Given the description of an element on the screen output the (x, y) to click on. 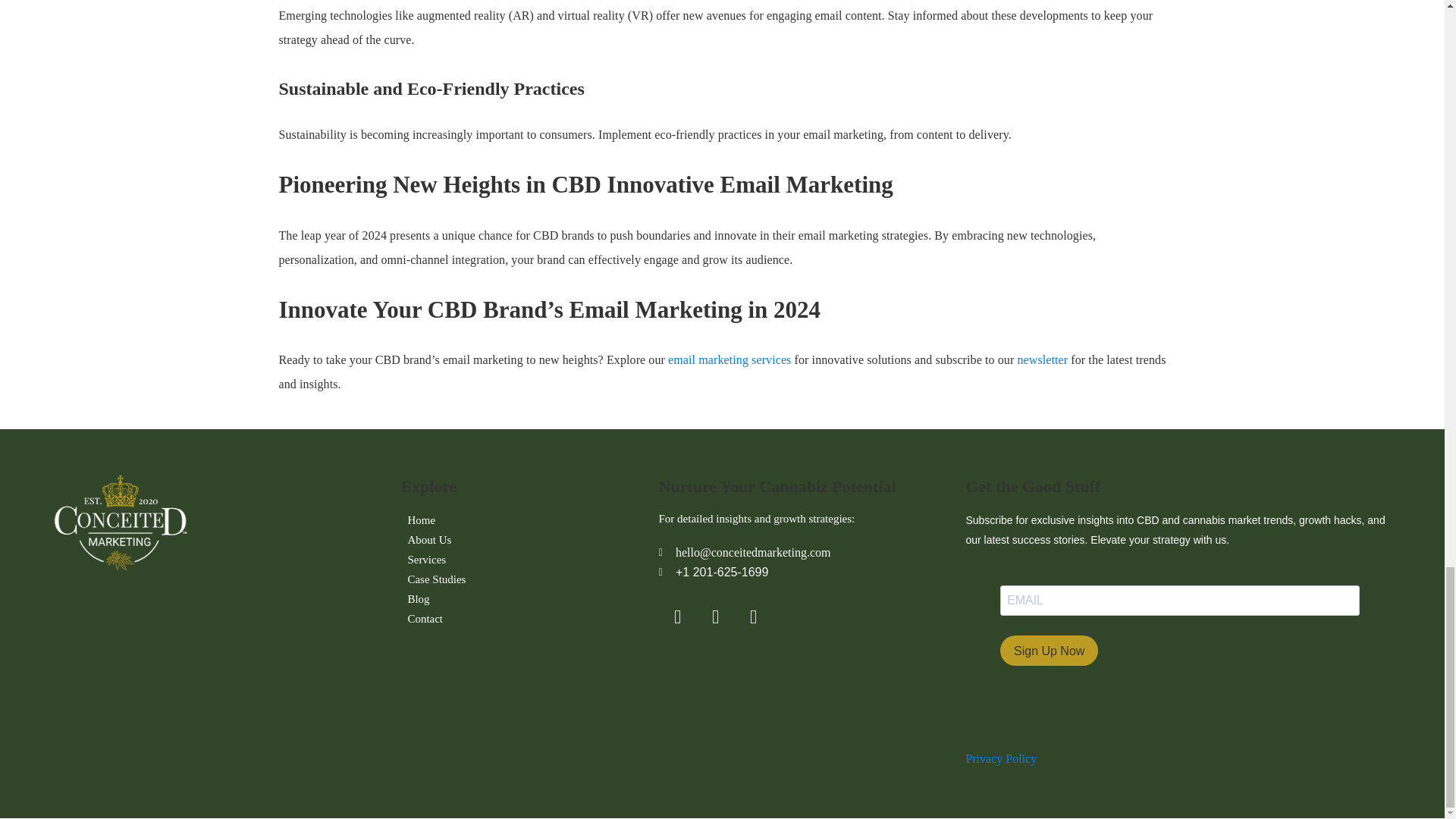
Services (426, 559)
Case Studies (436, 578)
About Us (429, 539)
Privacy Policy  (1000, 758)
newsletter (1041, 359)
Home (421, 519)
Blog (418, 598)
Privacy Policy (1000, 758)
Case Studies (436, 578)
Services (426, 559)
